Given the description of an element on the screen output the (x, y) to click on. 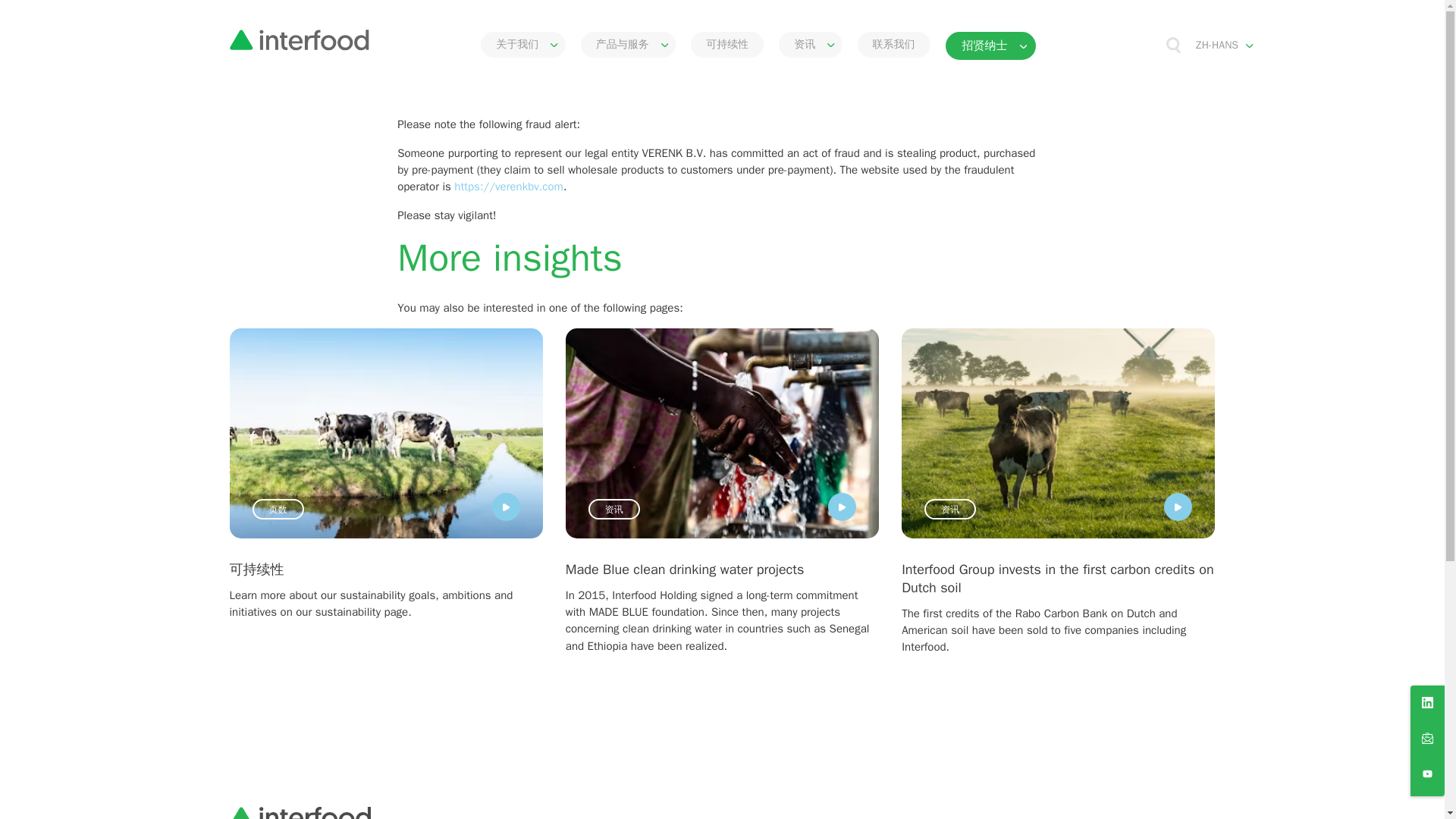
Sign up for our newsletter (1427, 740)
YouTube (1427, 775)
ZH-HANS (1223, 45)
LinkedIn (1427, 704)
